Given the description of an element on the screen output the (x, y) to click on. 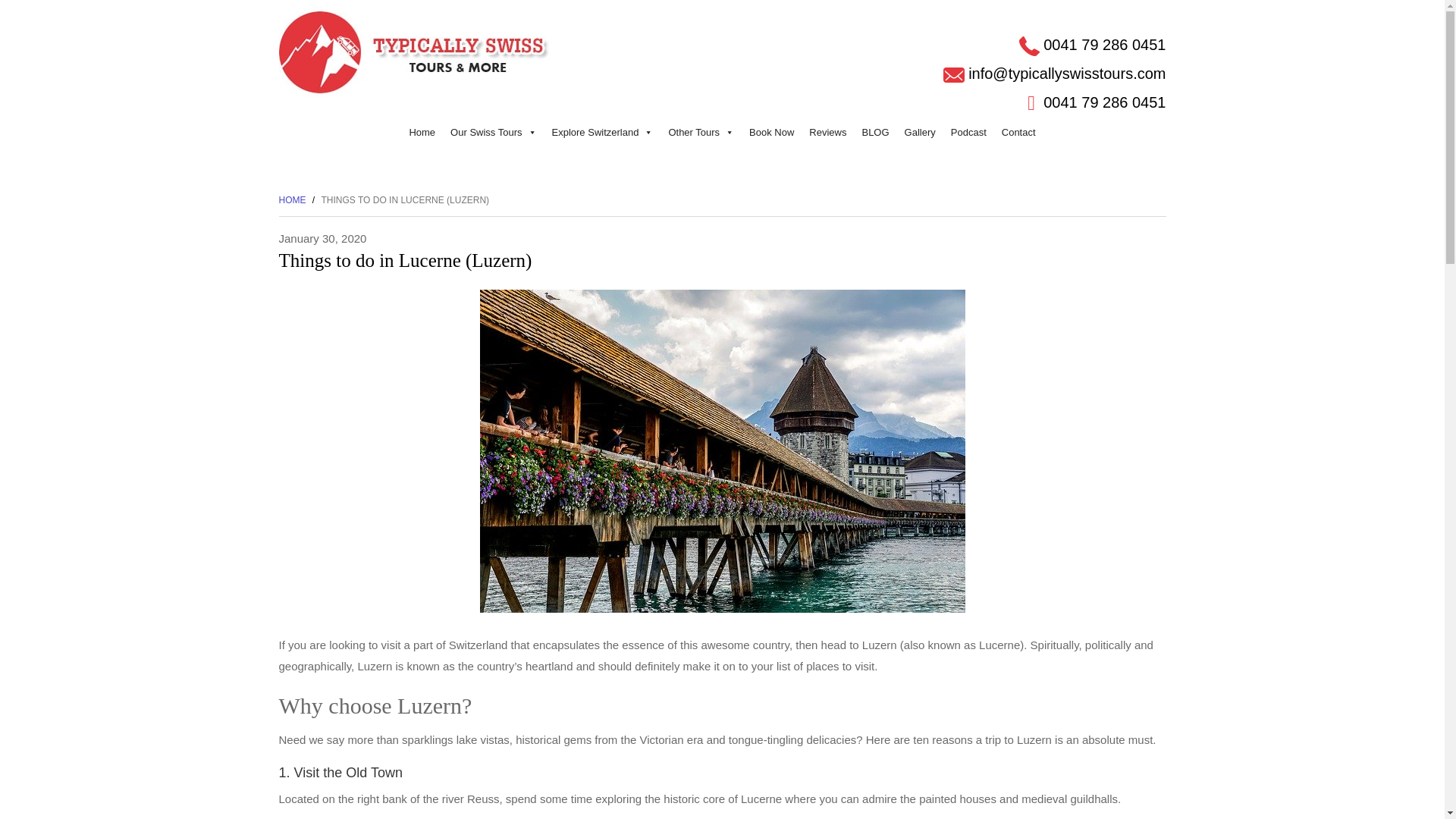
Explore Switzerland (602, 132)
Our Swiss Tours (492, 132)
Home (421, 132)
0041 79 286 0451 (1104, 44)
0041 79 286 0451 (1104, 102)
Typically Swiss Tours (415, 51)
